Given the description of an element on the screen output the (x, y) to click on. 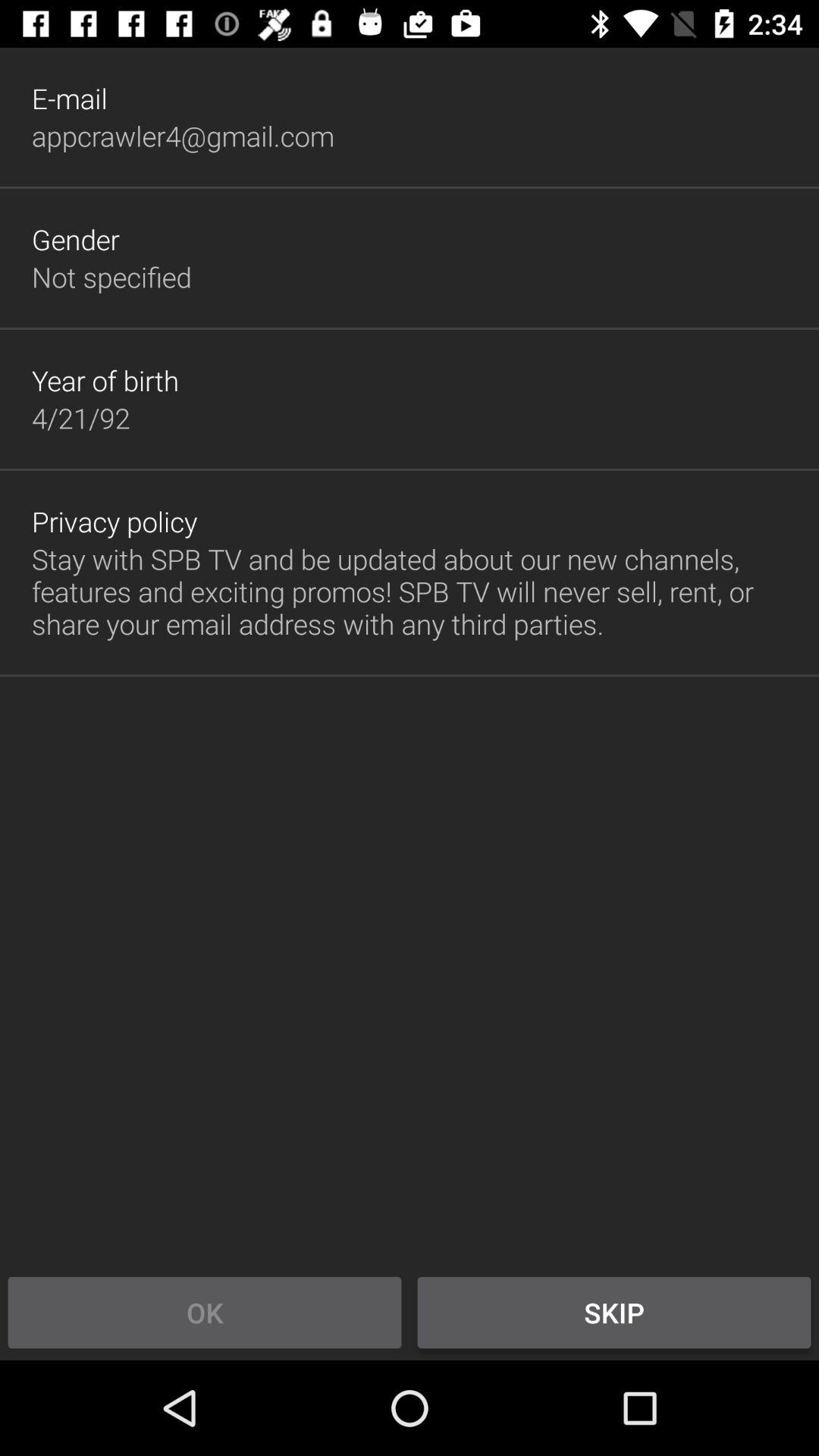
select item to the left of skip icon (204, 1312)
